Given the description of an element on the screen output the (x, y) to click on. 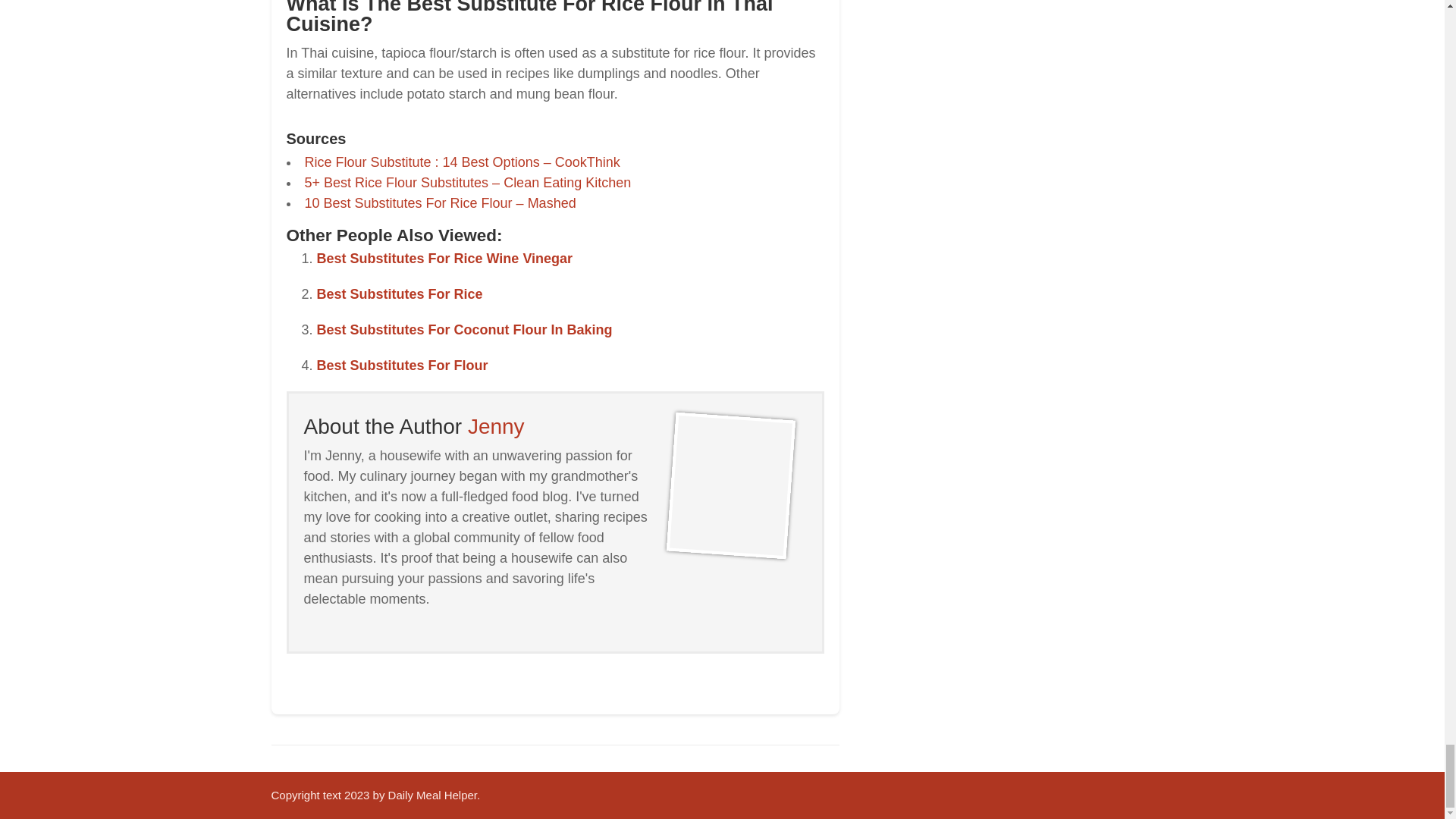
Best Substitutes For Flour (402, 365)
Best Substitutes For Rice (400, 294)
Best Substitutes For Coconut Flour In Baking (464, 329)
Jenny (495, 426)
Best Substitutes For Rice Wine Vinegar (445, 258)
Best Substitutes For Rice (400, 294)
Best Substitutes For Rice Wine Vinegar (445, 258)
Best Substitutes For Flour (402, 365)
Best Substitutes For Coconut Flour In Baking (464, 329)
